Given the description of an element on the screen output the (x, y) to click on. 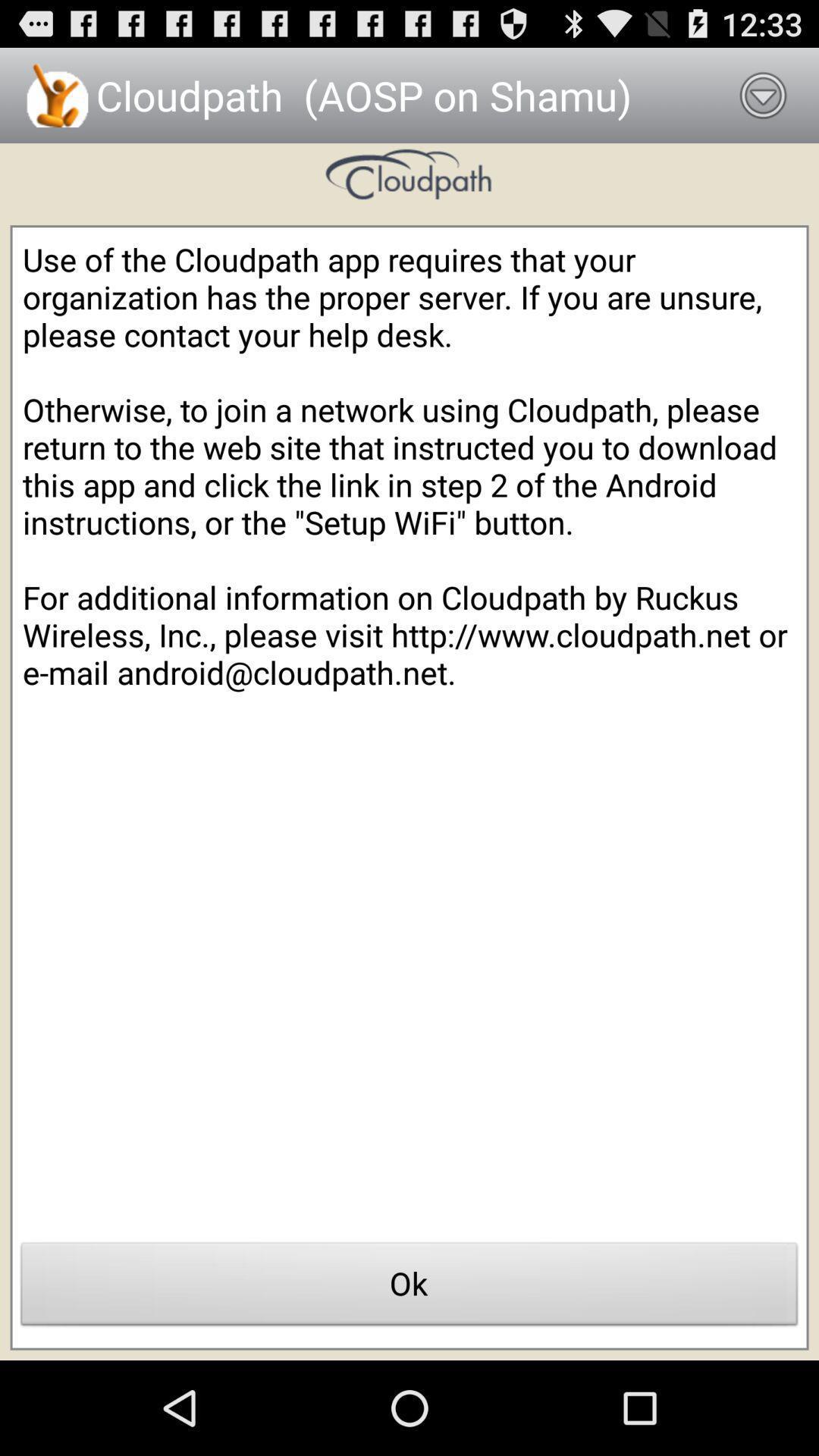
tap the item at the top right corner (763, 95)
